Given the description of an element on the screen output the (x, y) to click on. 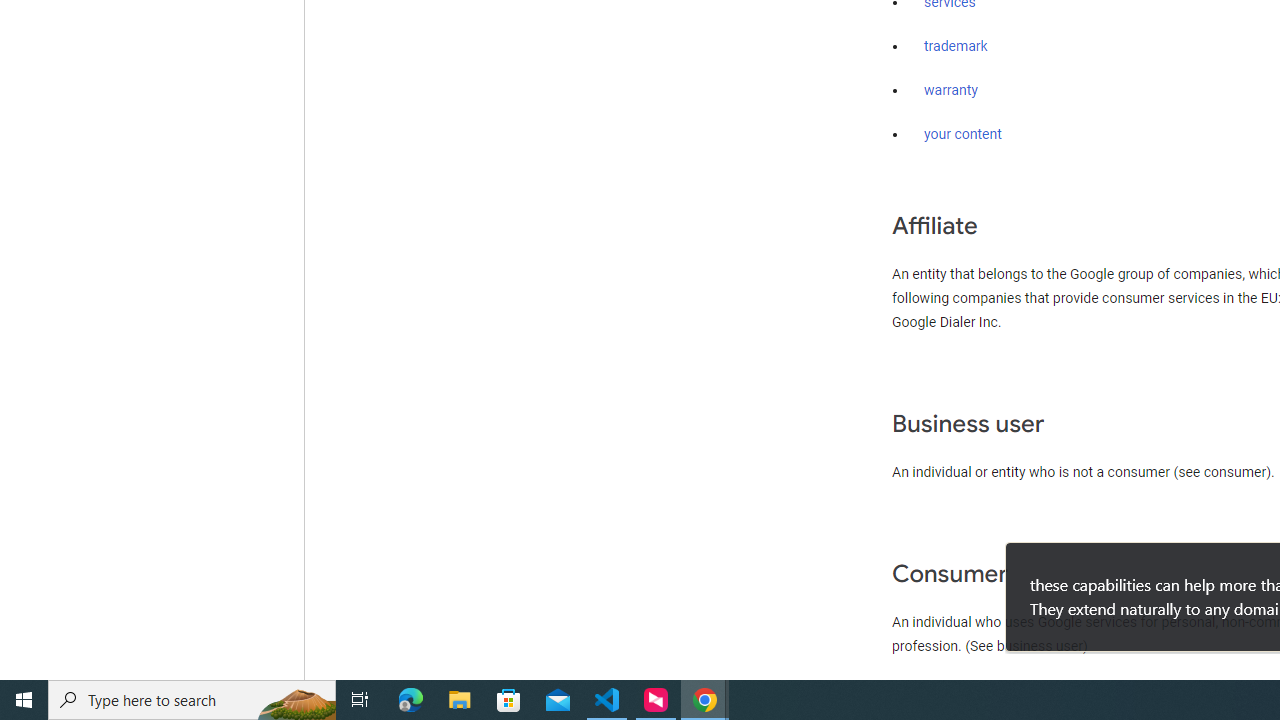
your content (963, 134)
warranty (950, 91)
trademark (956, 47)
